Given the description of an element on the screen output the (x, y) to click on. 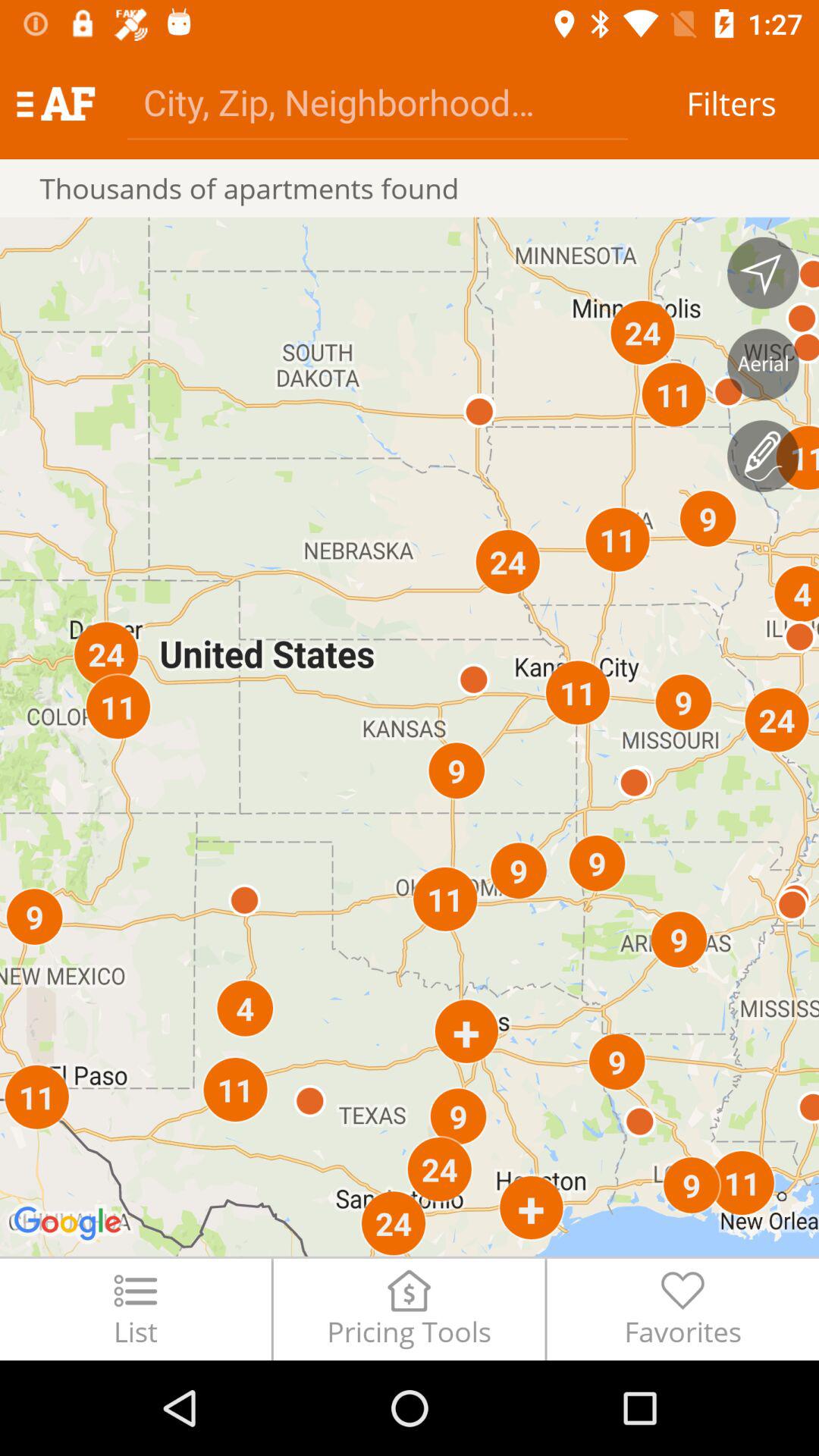
swipe until the pricing tools item (408, 1309)
